Given the description of an element on the screen output the (x, y) to click on. 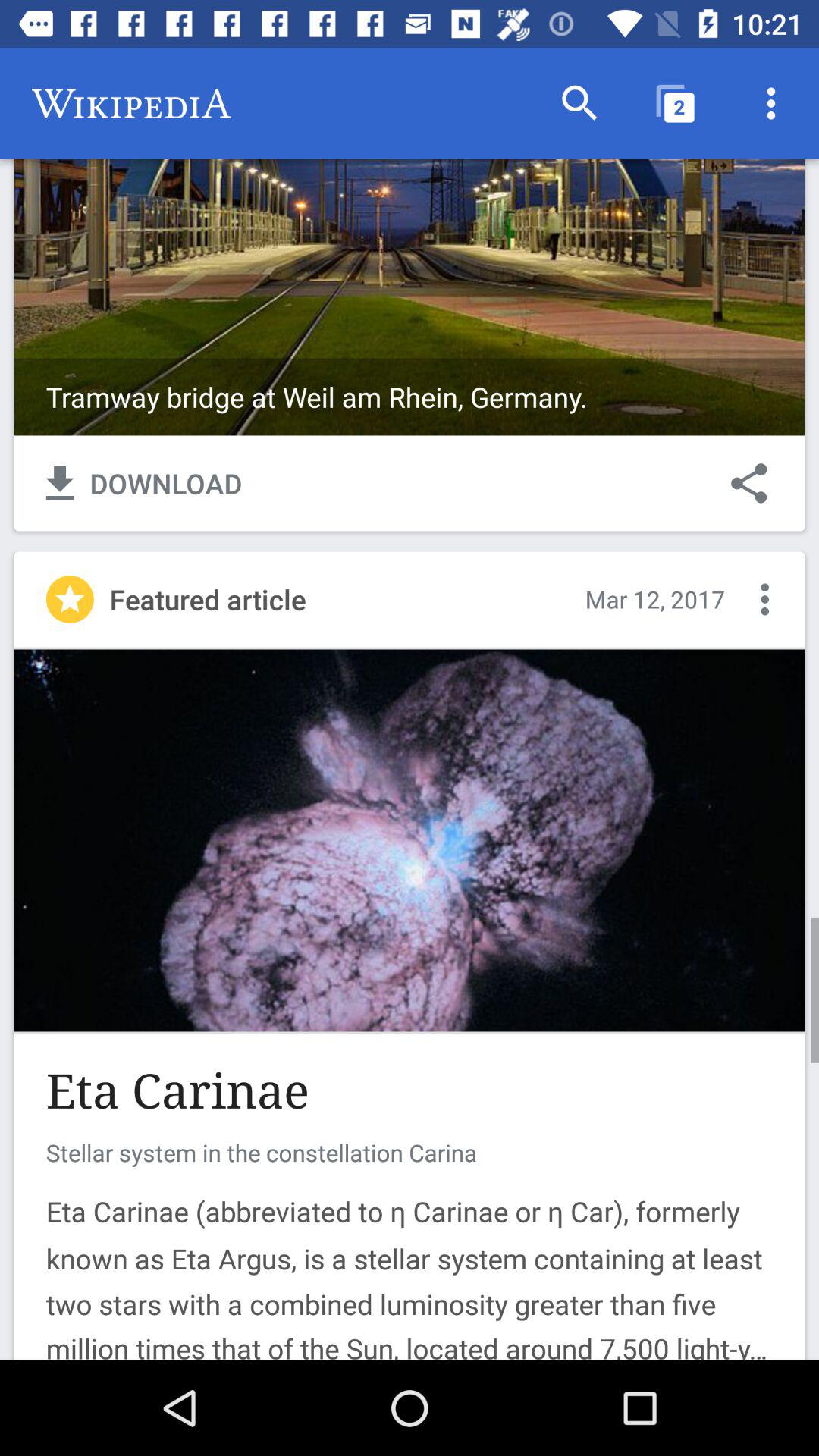
tap the item above tramway bridge at (771, 103)
